Given the description of an element on the screen output the (x, y) to click on. 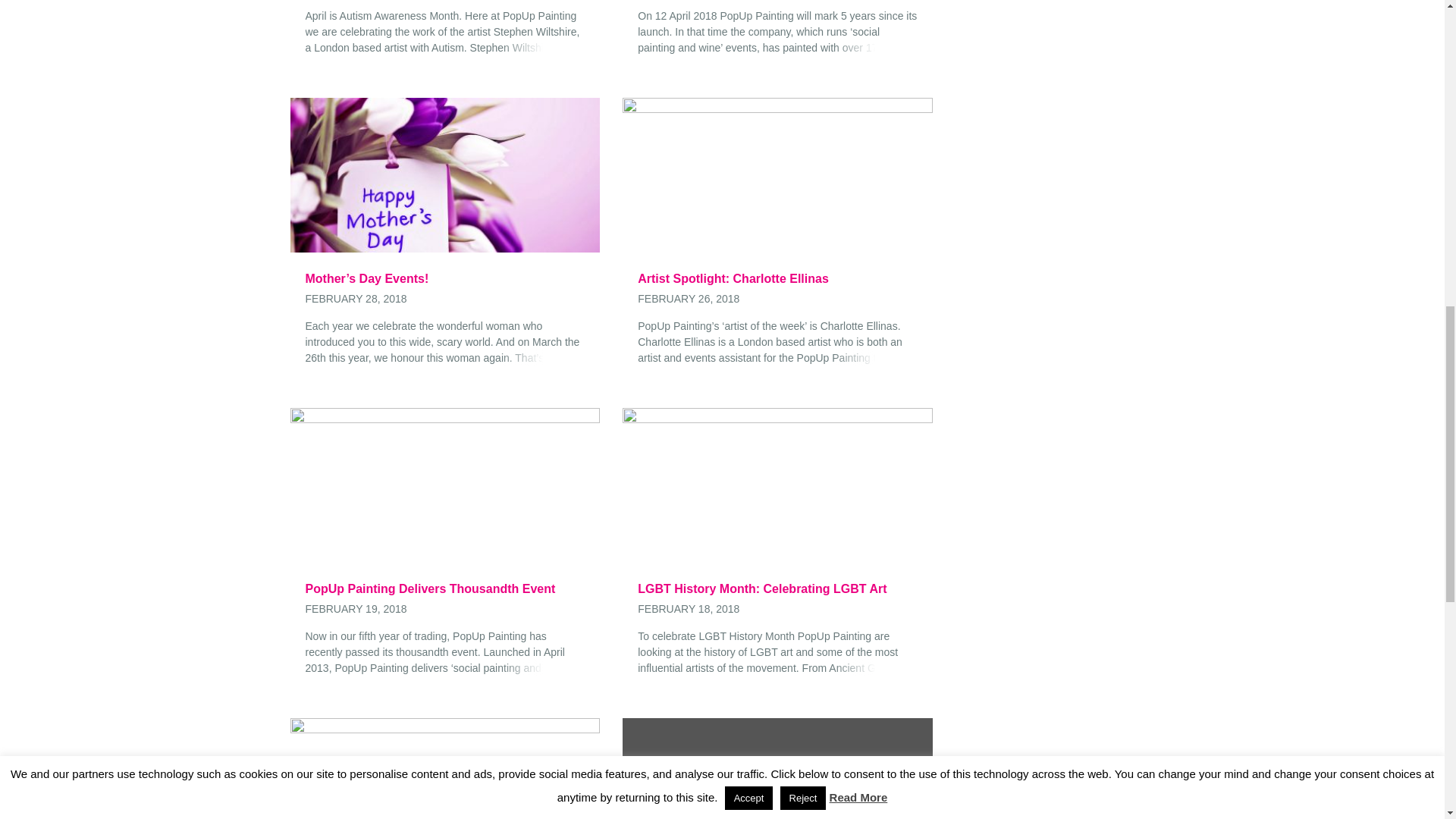
Artist Spotlight: Charlotte Ellinas (778, 173)
Artist Spotlight: Charlotte Ellinas (777, 279)
